Given the description of an element on the screen output the (x, y) to click on. 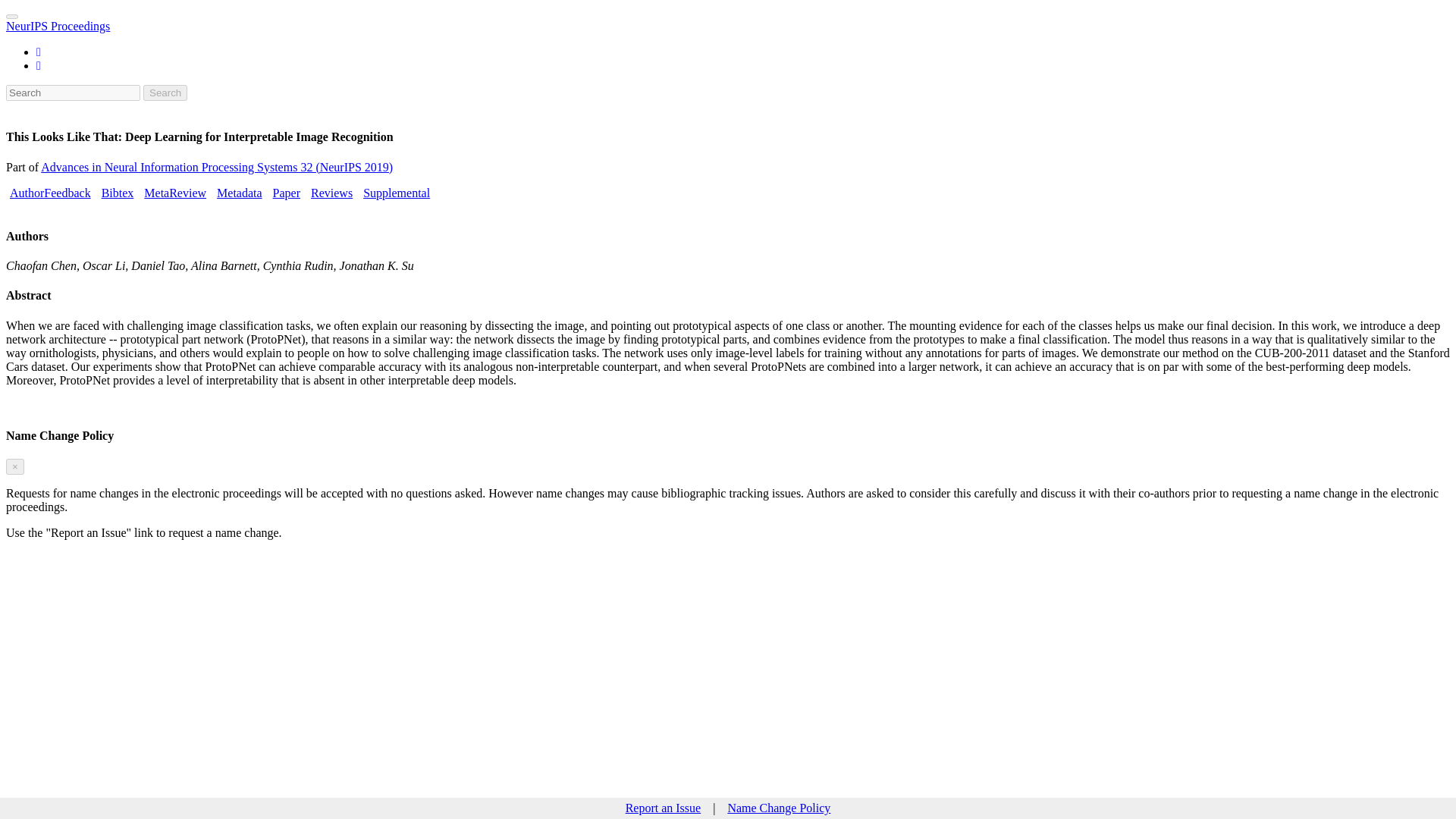
NeurIPS Proceedings (57, 25)
Search (164, 92)
Metadata (239, 192)
AuthorFeedback (50, 192)
Bibtex (117, 192)
Reviews (331, 192)
MetaReview (175, 192)
Paper (286, 192)
Supplemental (395, 192)
